Given the description of an element on the screen output the (x, y) to click on. 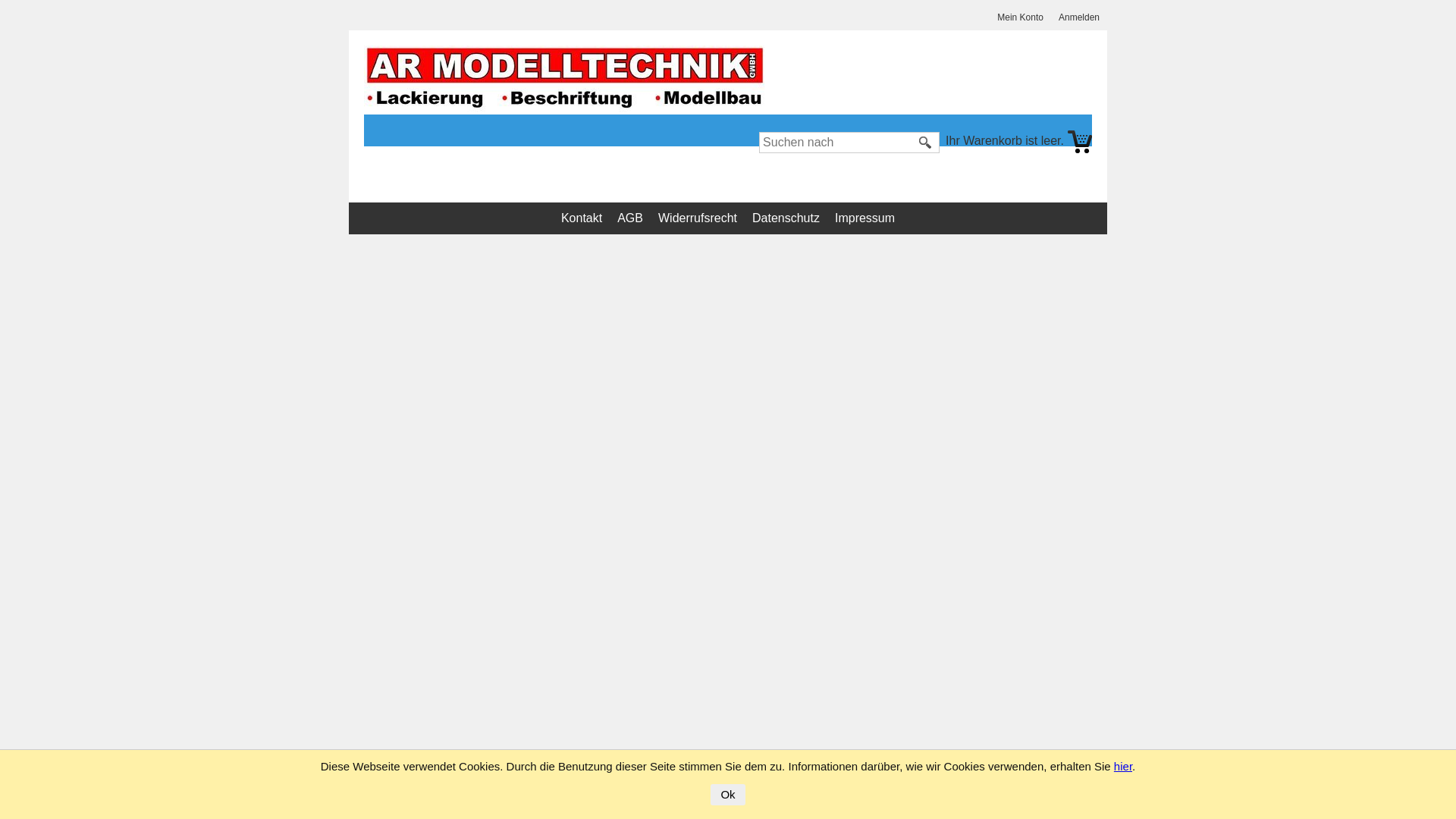
hier Element type: text (1122, 765)
Suche starten Element type: hover (925, 142)
Impressum Element type: text (868, 217)
Kontakt Element type: text (585, 217)
Mein Konto Element type: text (1024, 17)
Ok Element type: text (727, 794)
Anmelden Element type: text (1082, 17)
AGB Element type: text (633, 217)
Datenschutz Element type: text (789, 217)
Widerrufsrecht Element type: text (701, 217)
